Given the description of an element on the screen output the (x, y) to click on. 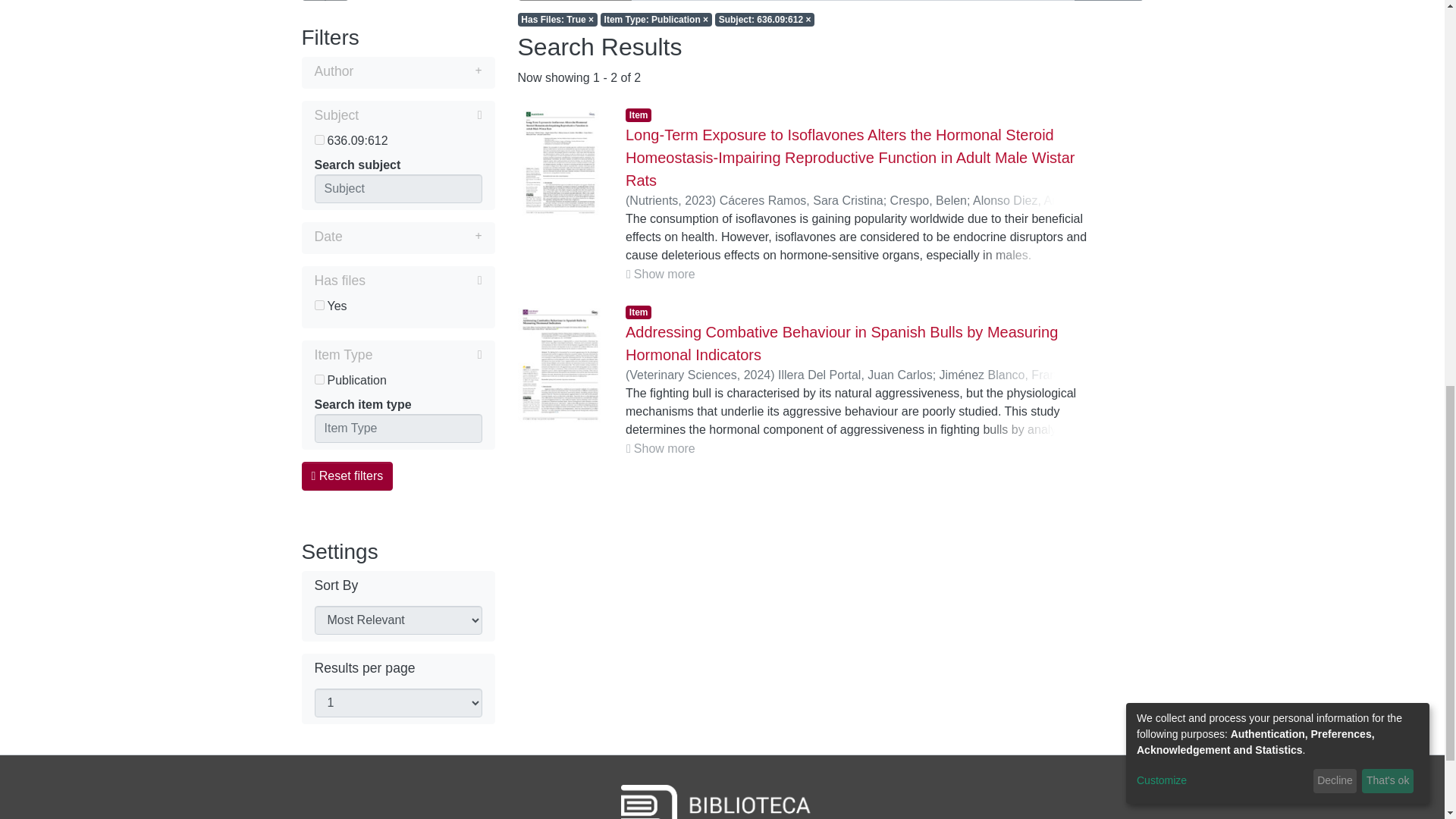
on (318, 305)
on (318, 139)
Expand filter (417, 71)
Author (397, 72)
on (318, 379)
Collapse filter (419, 115)
